Given the description of an element on the screen output the (x, y) to click on. 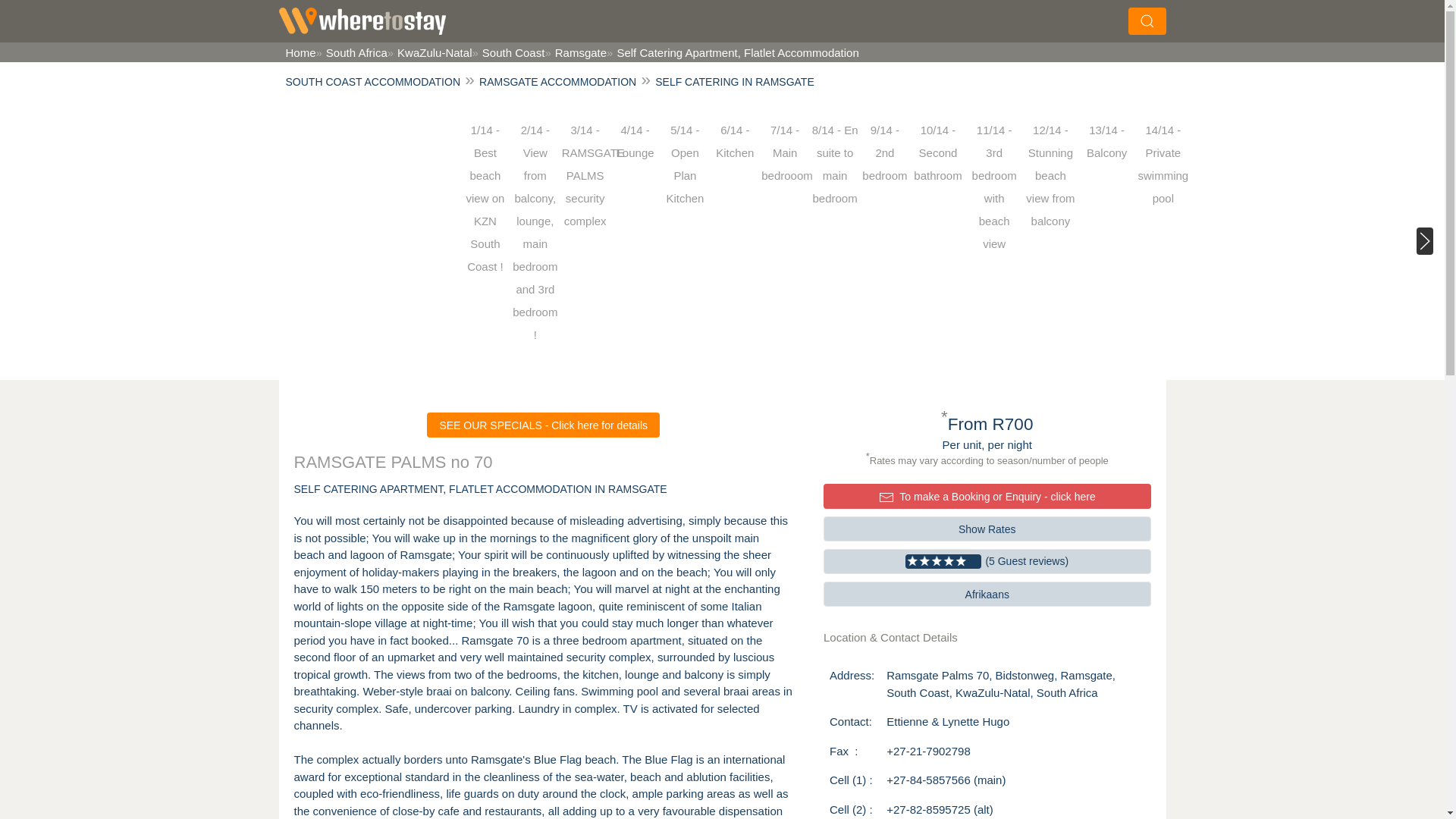
Self Catering Apartment, Flatlet Accommodation (733, 51)
9.6 out of 5 (987, 561)
South Africa (351, 51)
Where To Stay (362, 21)
SOUTH COAST ACCOMMODATION (372, 81)
Search (1003, 17)
  To make a Booking or Enquiry - click here (987, 496)
Show Rates (987, 528)
SELF CATERING APARTMENT, FLATLET ACCOMMODATION IN RAMSGATE (480, 489)
SEE OUR SPECIALS - Click here for details (542, 424)
